Given the description of an element on the screen output the (x, y) to click on. 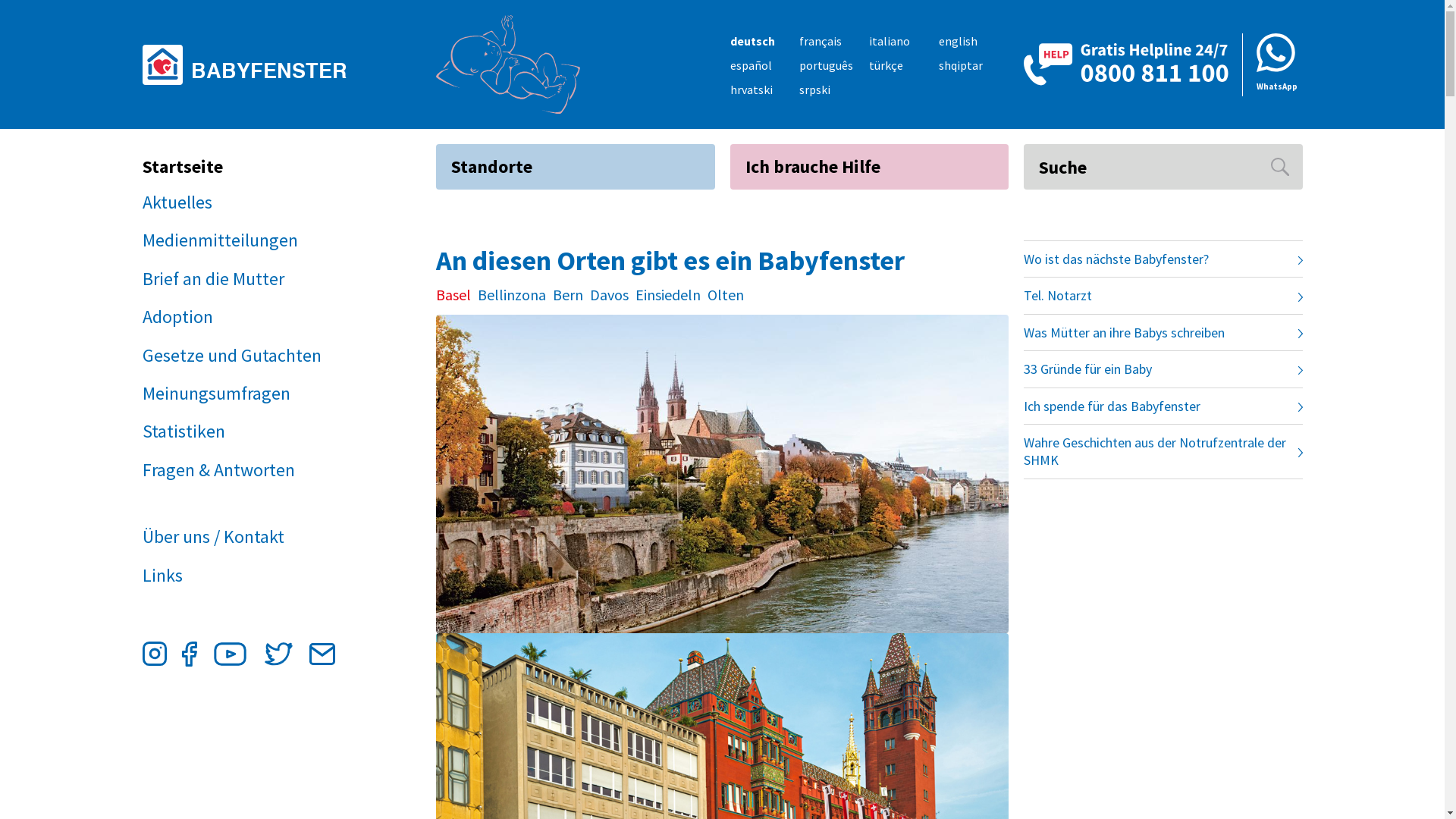
Wahre Geschichten aus der Notrufzentrale der SHMK Element type: text (1162, 451)
Adoption Element type: text (253, 316)
Olten Element type: text (725, 294)
Links Element type: text (253, 575)
Fragen & Antworten Element type: text (253, 470)
Aktuelles Element type: text (253, 202)
WhatsApp Element type: text (1272, 64)
Gesetze und Gutachten Element type: text (253, 355)
italiano Element type: text (889, 40)
Ich brauche Hilfe Element type: text (868, 166)
Davos Element type: text (608, 294)
Tel. Notarzt Element type: text (1162, 295)
Bellinzona Element type: text (511, 294)
BABYFENSTER Element type: text (257, 63)
Meinungsumfragen Element type: text (253, 393)
deutsch Element type: text (751, 40)
Medienmitteilungen Element type: text (253, 240)
srpski Element type: text (814, 89)
Einsiedeln Element type: text (667, 294)
hrvatski Element type: text (750, 89)
shqiptar Element type: text (960, 64)
Bern Element type: text (567, 294)
Statistiken Element type: text (253, 431)
Basel Element type: text (453, 294)
Brief an die Mutter Element type: text (253, 279)
Standorte Element type: text (575, 166)
english Element type: text (957, 40)
